Given the description of an element on the screen output the (x, y) to click on. 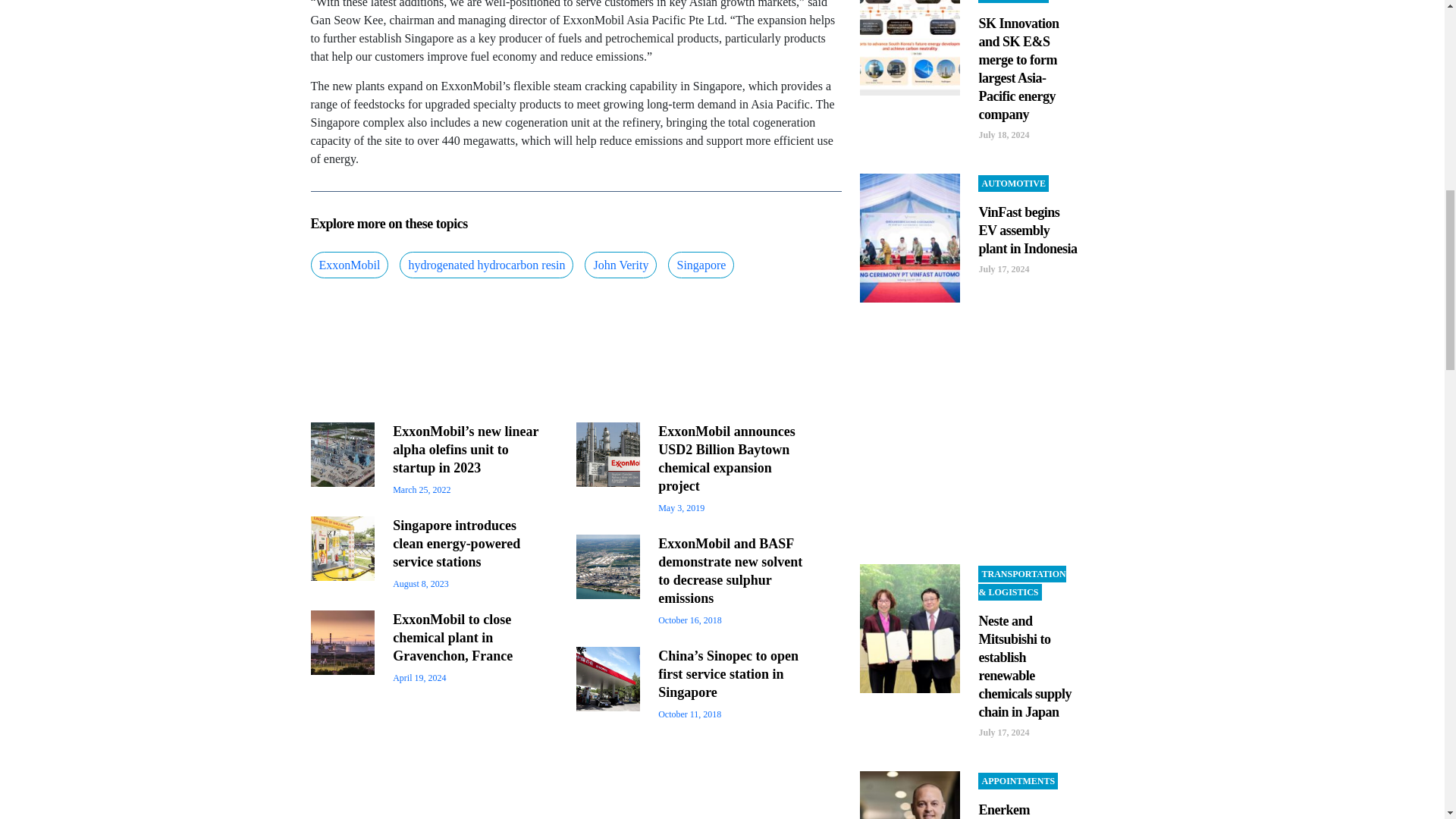
Singapore (700, 264)
October 11, 2018 (689, 714)
John Verity (620, 264)
April 19, 2024 (419, 677)
October 16, 2018 (690, 620)
ExxonMobil to close chemical plant in Gravenchon, France (452, 637)
August 8, 2023 (420, 583)
ExxonMobil (349, 264)
May 3, 2019 (681, 507)
Singapore introduces clean energy-powered service stations (456, 543)
hydrogenated hydrocarbon resin (485, 264)
March 25, 2022 (421, 489)
